Given the description of an element on the screen output the (x, y) to click on. 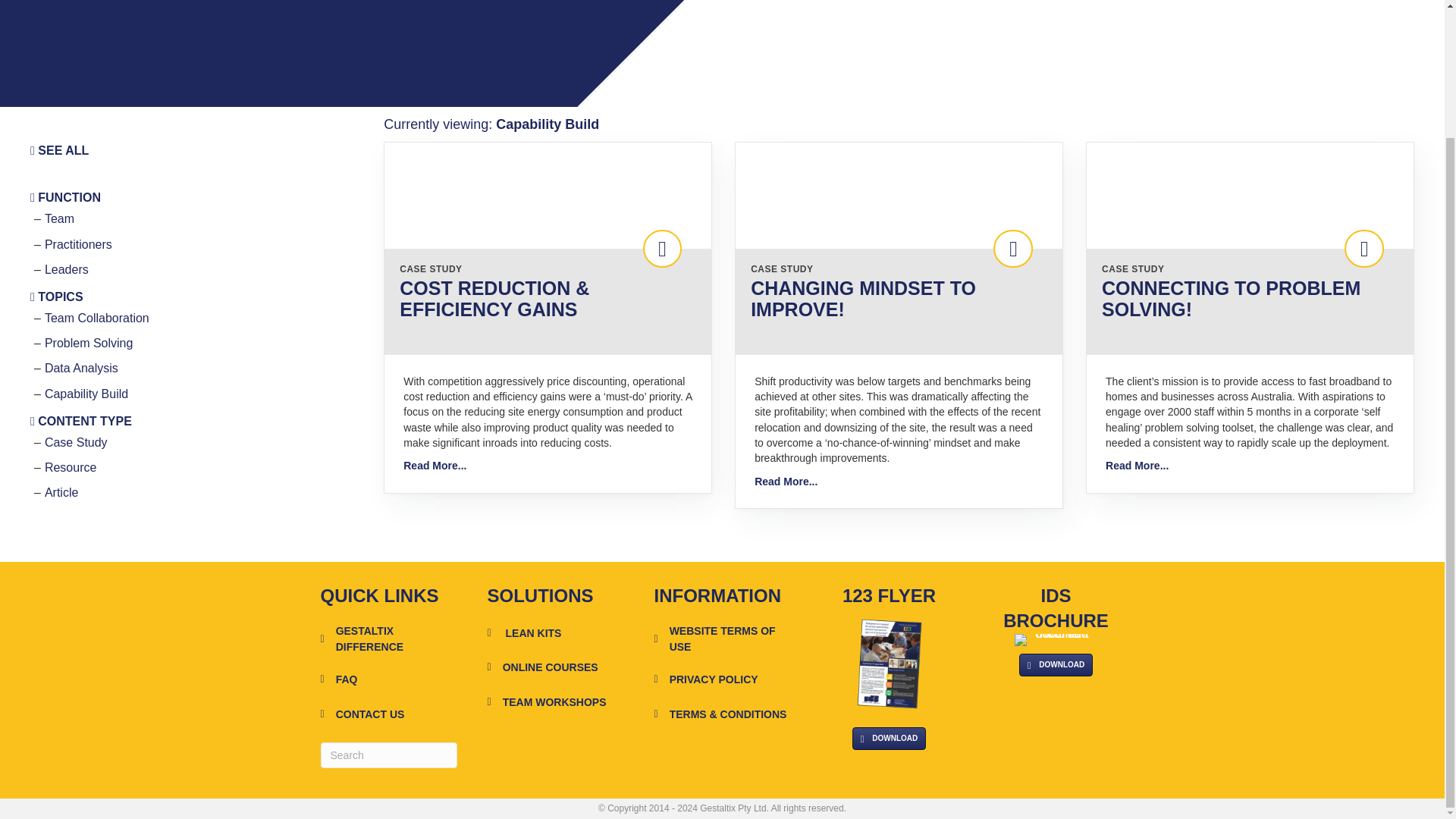
FUNCTION (65, 196)
CONTENT TYPE (81, 420)
Type and press Enter to search. (388, 755)
Resource (70, 467)
Read More... (434, 465)
Leaders (66, 269)
Article (61, 492)
Case Study (76, 441)
Practitioners (78, 244)
Read More... (785, 481)
Capability Build (86, 393)
Team Collaboration (97, 318)
Team (59, 218)
Data Analysis (81, 367)
SEE ALL (59, 150)
